Given the description of an element on the screen output the (x, y) to click on. 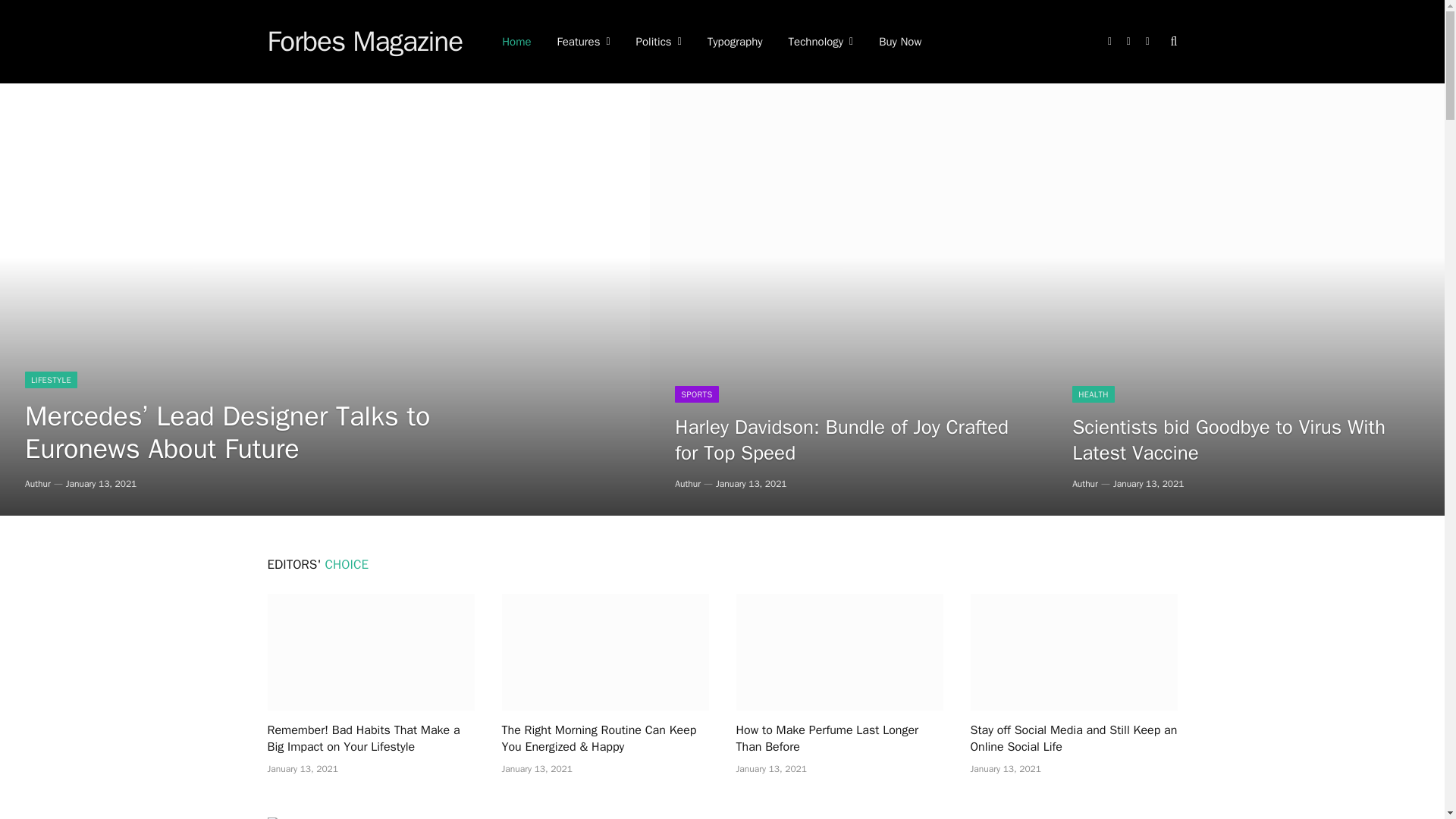
Forbes Magazine (364, 41)
Typography (735, 41)
Technology (821, 41)
Features (583, 41)
Forbes Magazine (364, 41)
